Given the description of an element on the screen output the (x, y) to click on. 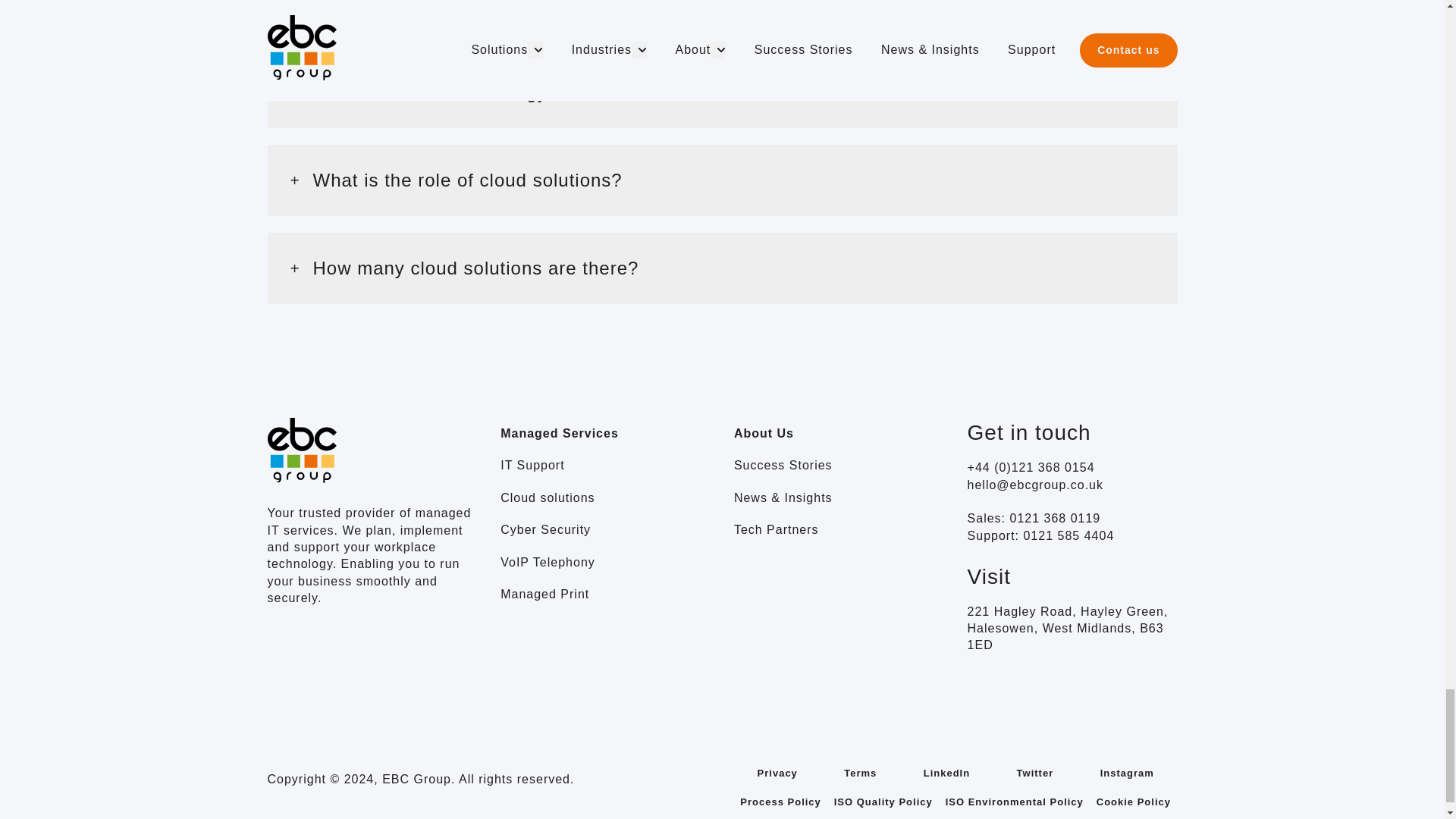
EBC Group (301, 450)
